Given the description of an element on the screen output the (x, y) to click on. 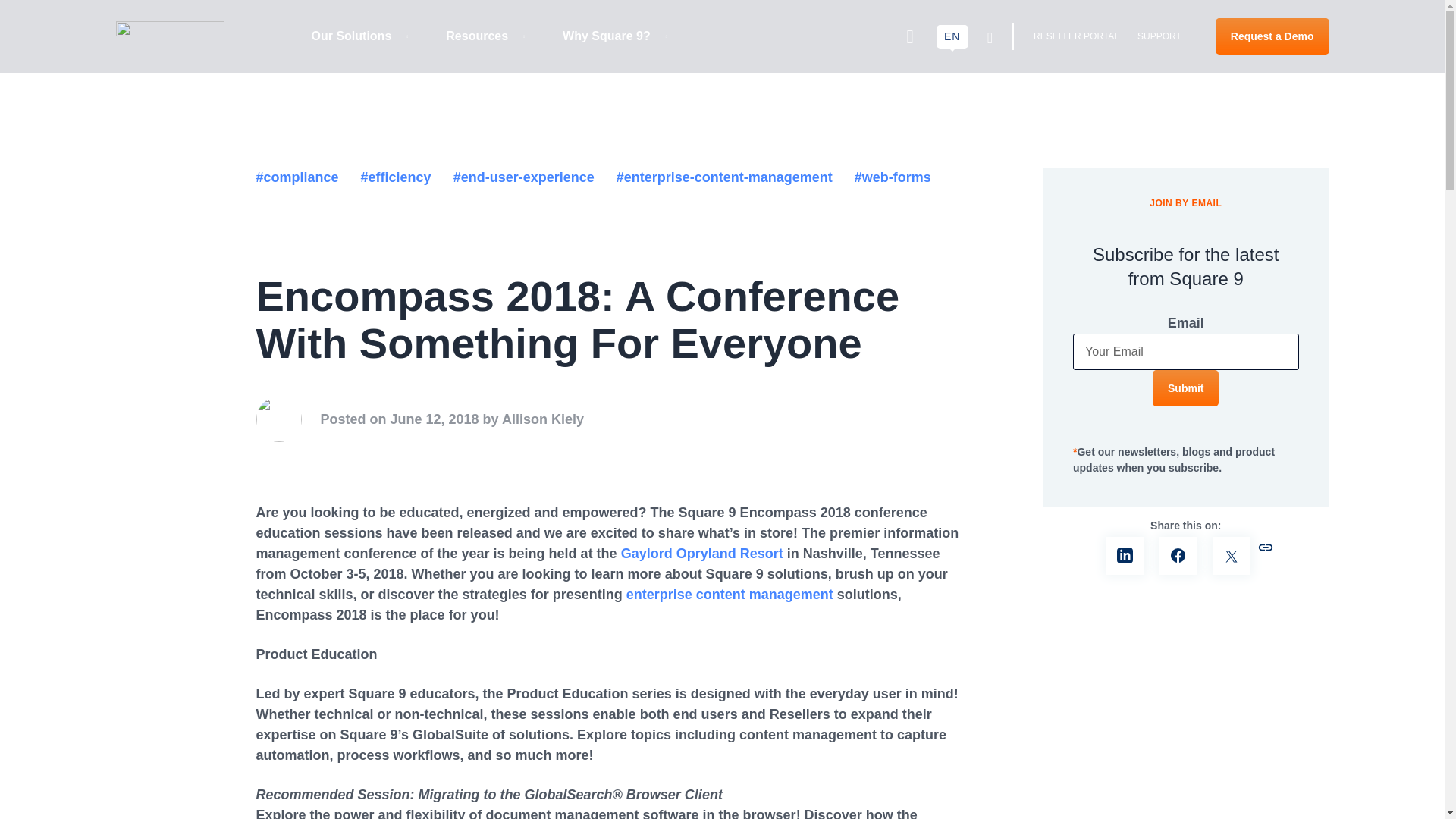
RESELLER PORTAL (1076, 36)
SUPPORT (1158, 36)
Resources (484, 36)
Submit (488, 36)
Request a Demo (1185, 388)
